Given the description of an element on the screen output the (x, y) to click on. 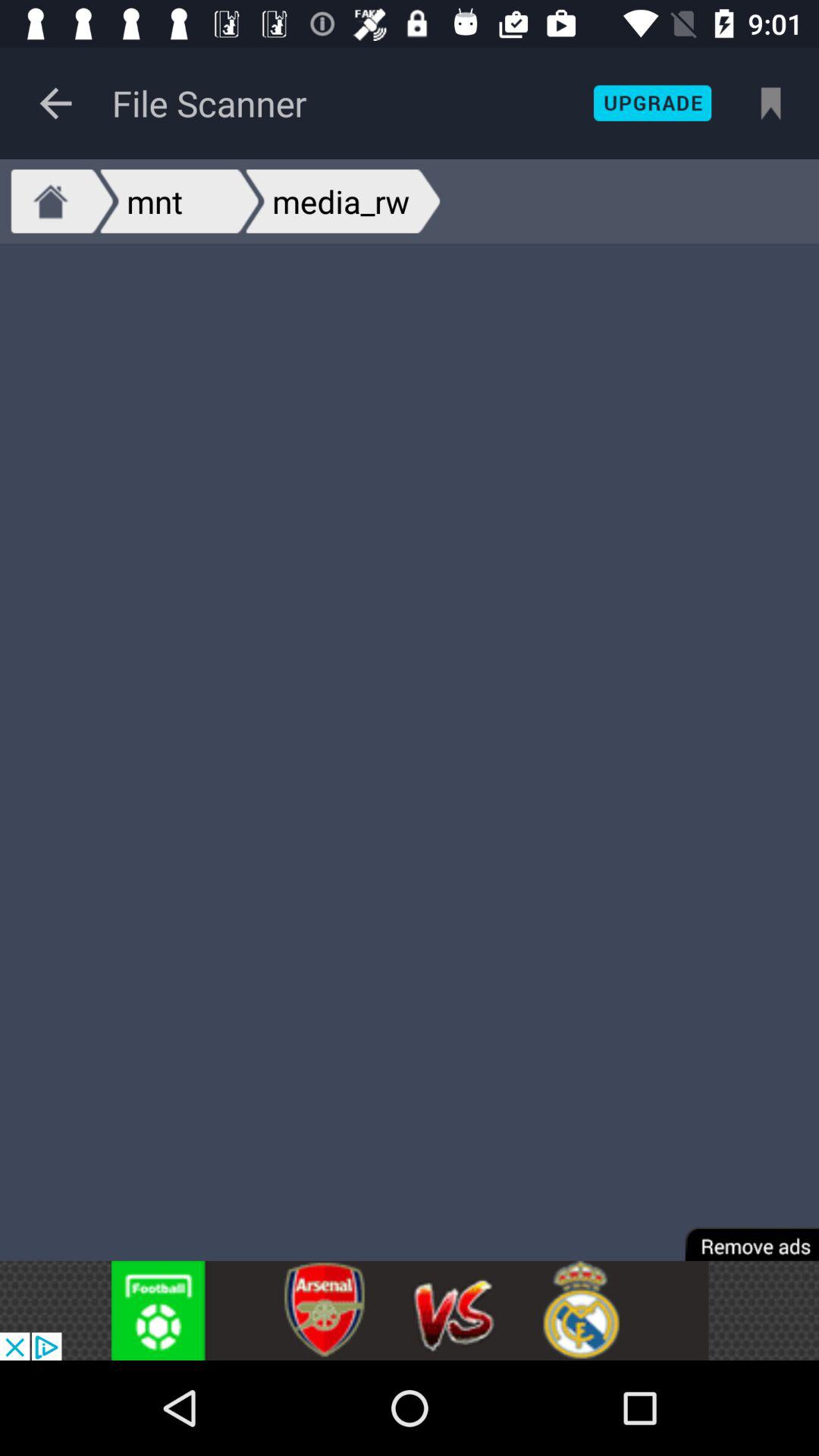
upgrade (652, 103)
